Given the description of an element on the screen output the (x, y) to click on. 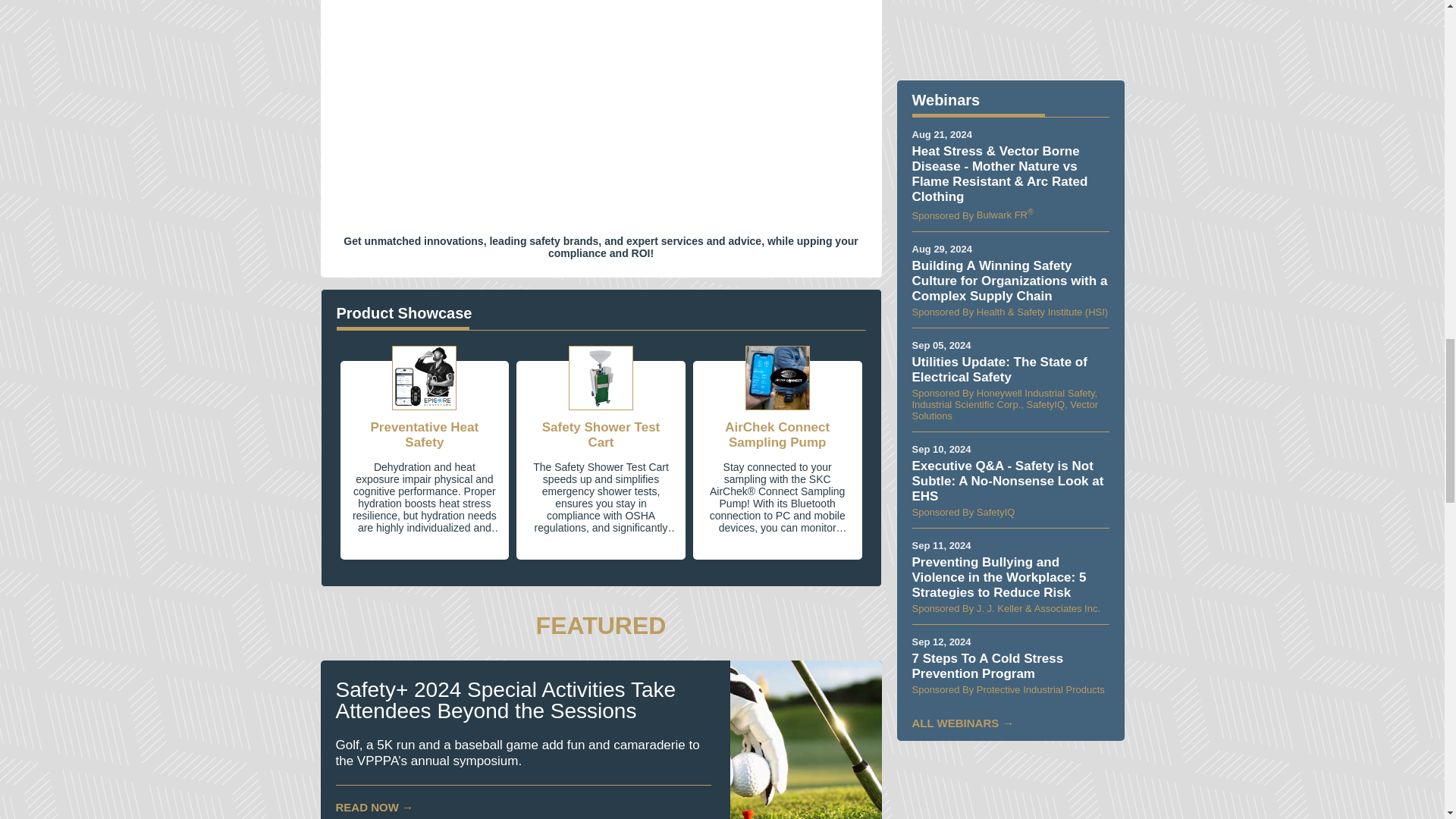
3rd party ad content (1010, 787)
YouTube video player (600, 105)
3rd party ad content (1010, 32)
